Given the description of an element on the screen output the (x, y) to click on. 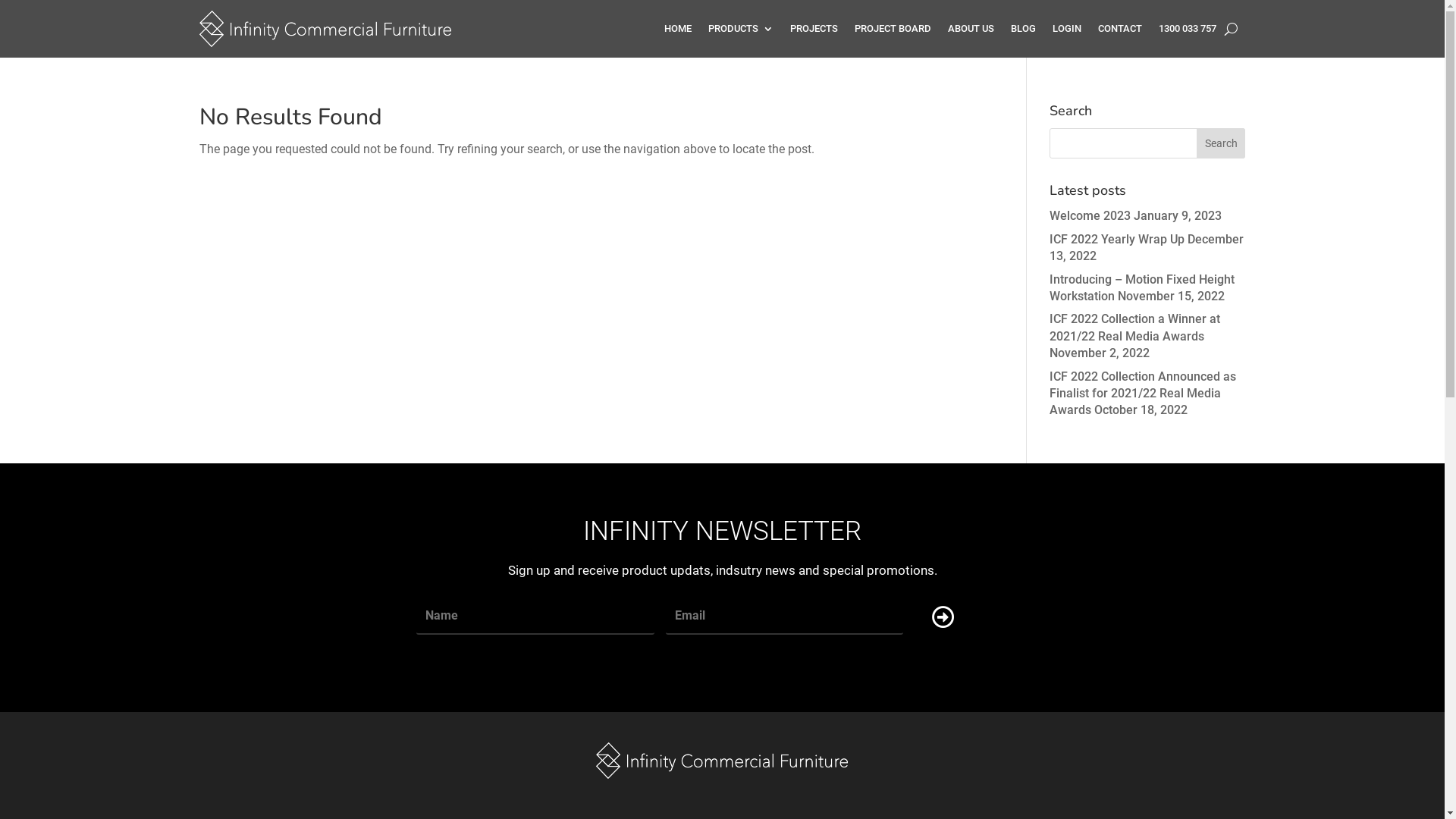
PRODUCTS Element type: text (740, 28)
LOGIN Element type: text (1066, 28)
Welcome 2023 Element type: text (1089, 215)
Search Element type: text (1220, 143)
BLOG Element type: text (1022, 28)
icf logo Element type: hover (722, 760)
. Element type: text (921, 617)
CONTACT Element type: text (1120, 28)
PROJECTS Element type: text (813, 28)
1300 033 757 Element type: text (1187, 28)
ABOUT US Element type: text (970, 28)
PROJECT BOARD Element type: text (891, 28)
ICF 2022 Collection a Winner at 2021/22 Real Media Awards Element type: text (1134, 326)
HOME Element type: text (677, 28)
ICF 2022 Yearly Wrap Up Element type: text (1116, 239)
